Given the description of an element on the screen output the (x, y) to click on. 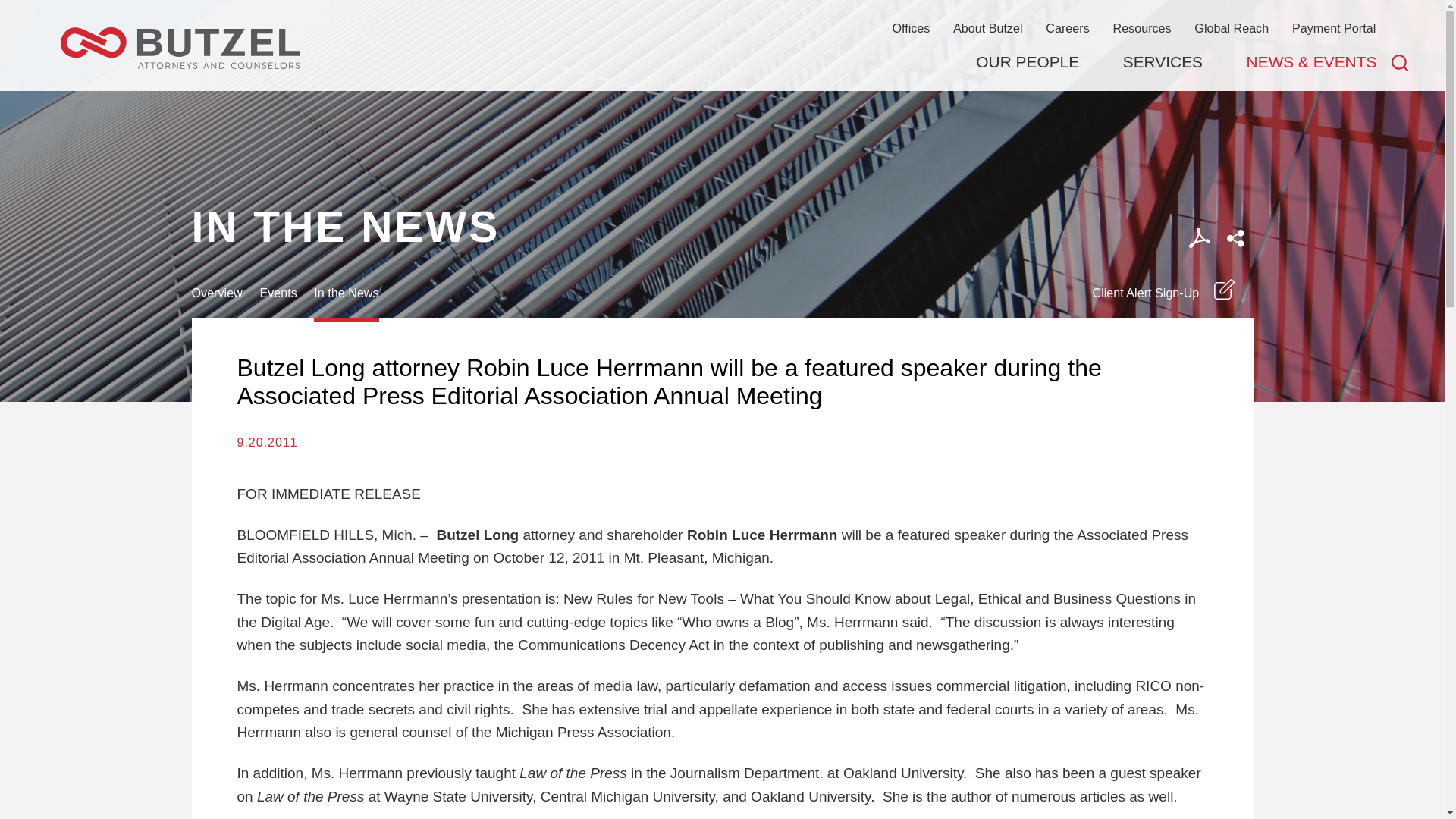
OUR PEOPLE (1026, 61)
Search (1399, 62)
Main Content (667, 19)
Main Menu (674, 19)
SERVICES (1162, 61)
Menu (674, 19)
Share (1235, 238)
